Given the description of an element on the screen output the (x, y) to click on. 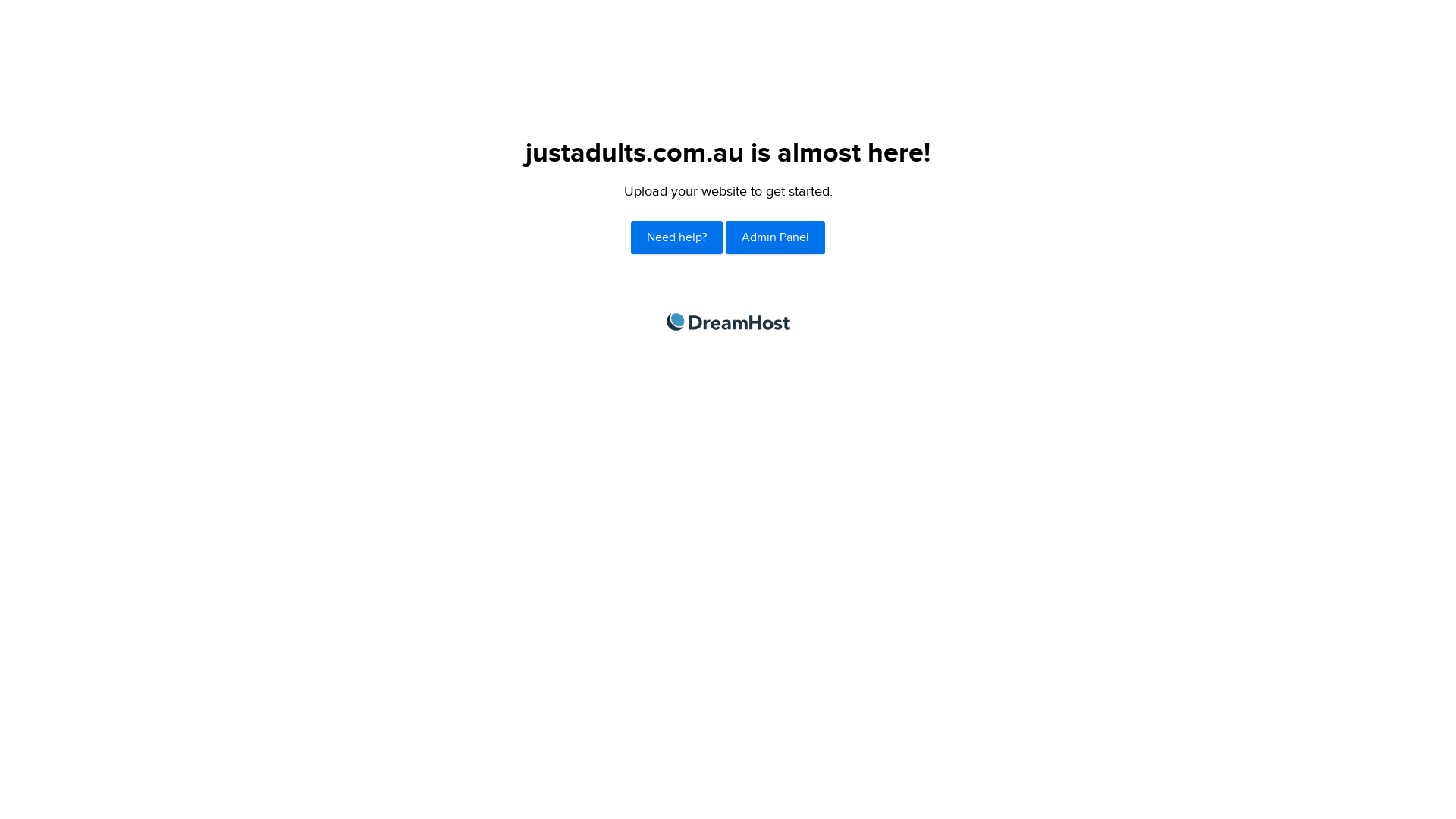
Admin Panel Element type: text (775, 237)
Need help? Element type: text (676, 237)
DreamHost Element type: text (727, 320)
